Given the description of an element on the screen output the (x, y) to click on. 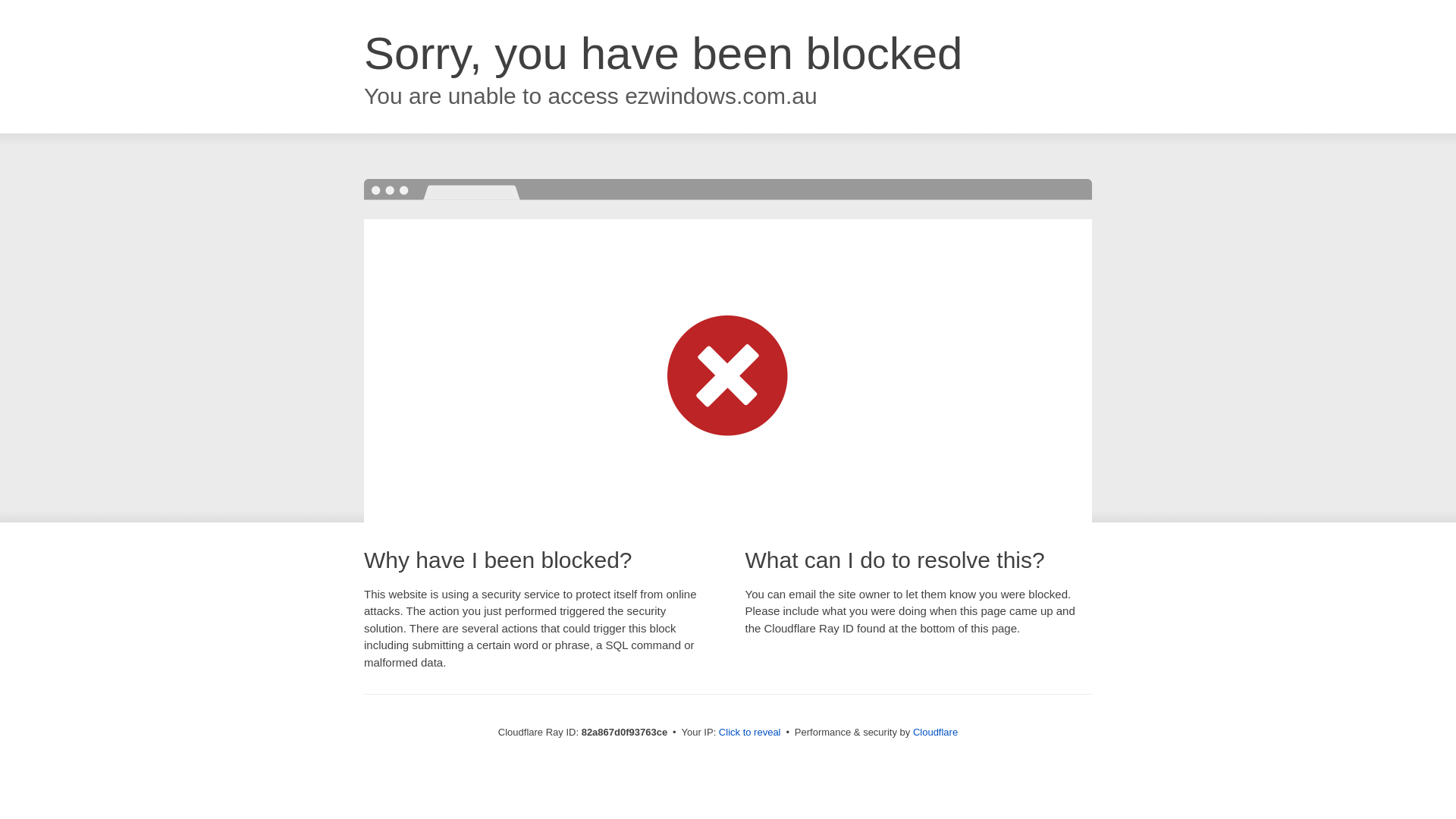
Cloudflare Element type: text (935, 731)
Click to reveal Element type: text (749, 732)
